Given the description of an element on the screen output the (x, y) to click on. 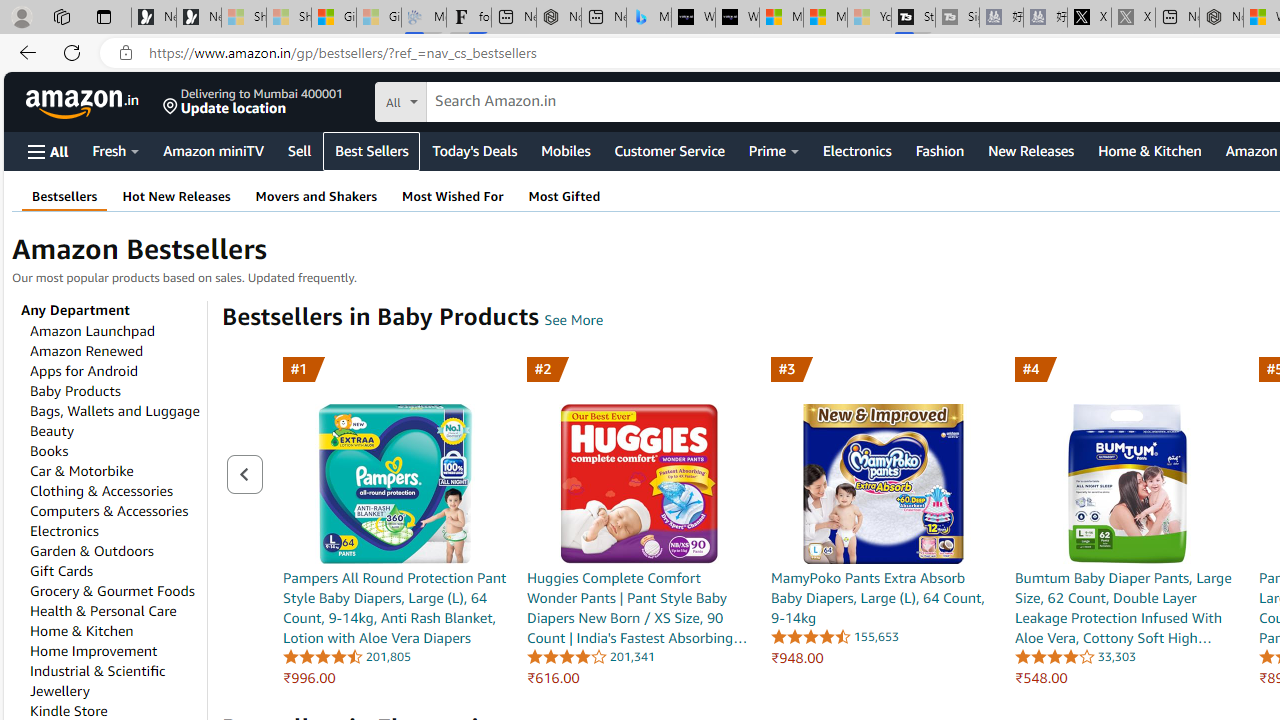
X - Sleeping (1133, 17)
X (1089, 17)
Nordace - #1 Japanese Best-Seller - Siena Smart Backpack (558, 17)
Grocery & Gourmet Foods (111, 590)
Open Menu (48, 151)
Most Wished For (452, 196)
Bestsellers in Baby Products - See More (574, 320)
Previous page (244, 473)
